Given the description of an element on the screen output the (x, y) to click on. 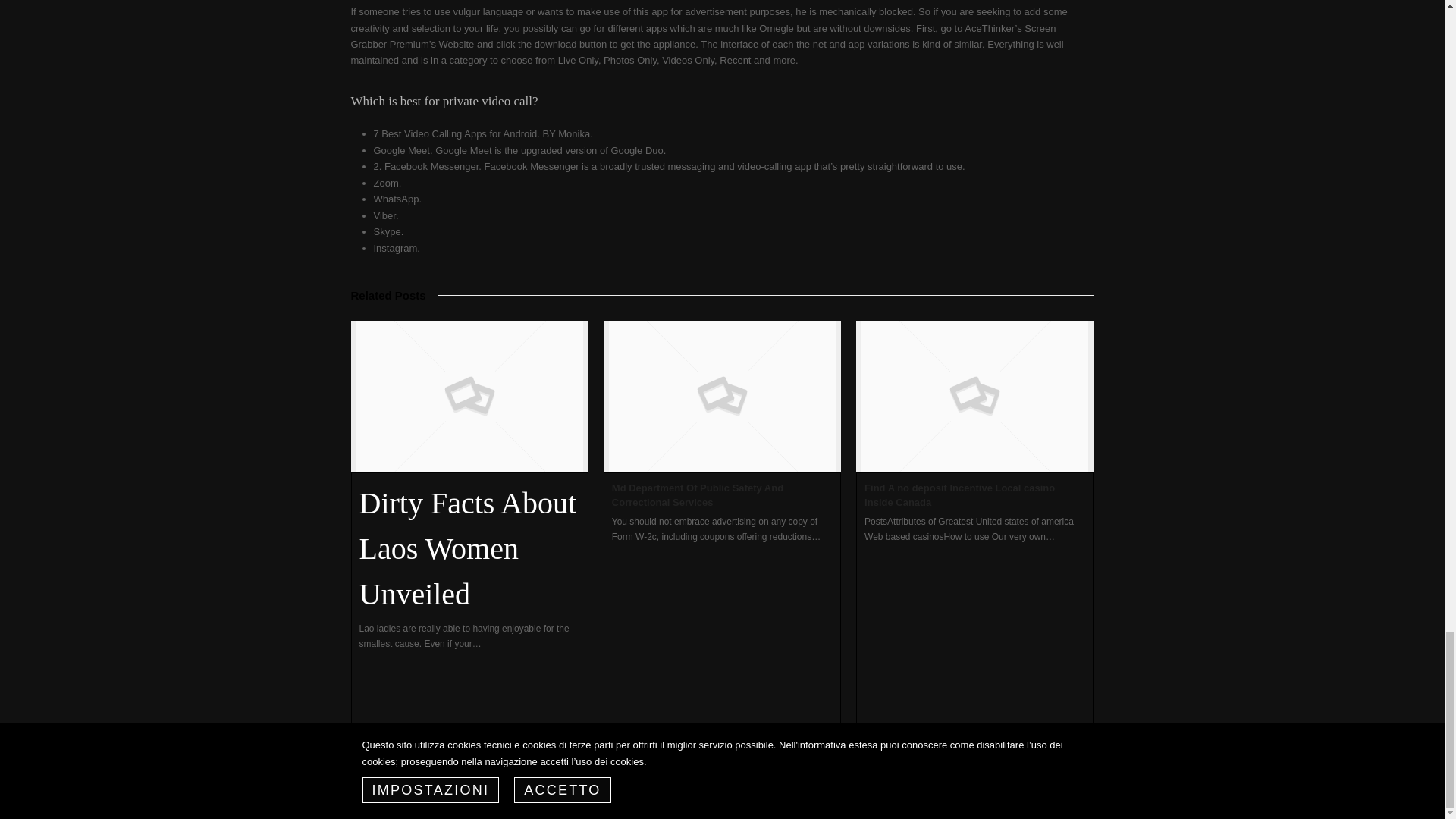
Md Department Of Public Safety And Correctional Services (722, 396)
Lavora con noi (871, 796)
Find A no deposit Incentive Local casino Inside Canada (974, 396)
Credits (1079, 796)
Find A no deposit Incentive Local casino Inside Canada (959, 495)
Dirty Facts About Laos Women Unveiled (469, 548)
Area riservata (1020, 796)
Dirty Facts About Laos Women Unveiled (469, 548)
Md Department Of Public Safety And Correctional Services (697, 495)
Md Department Of Public Safety And Correctional Services (697, 495)
